Given the description of an element on the screen output the (x, y) to click on. 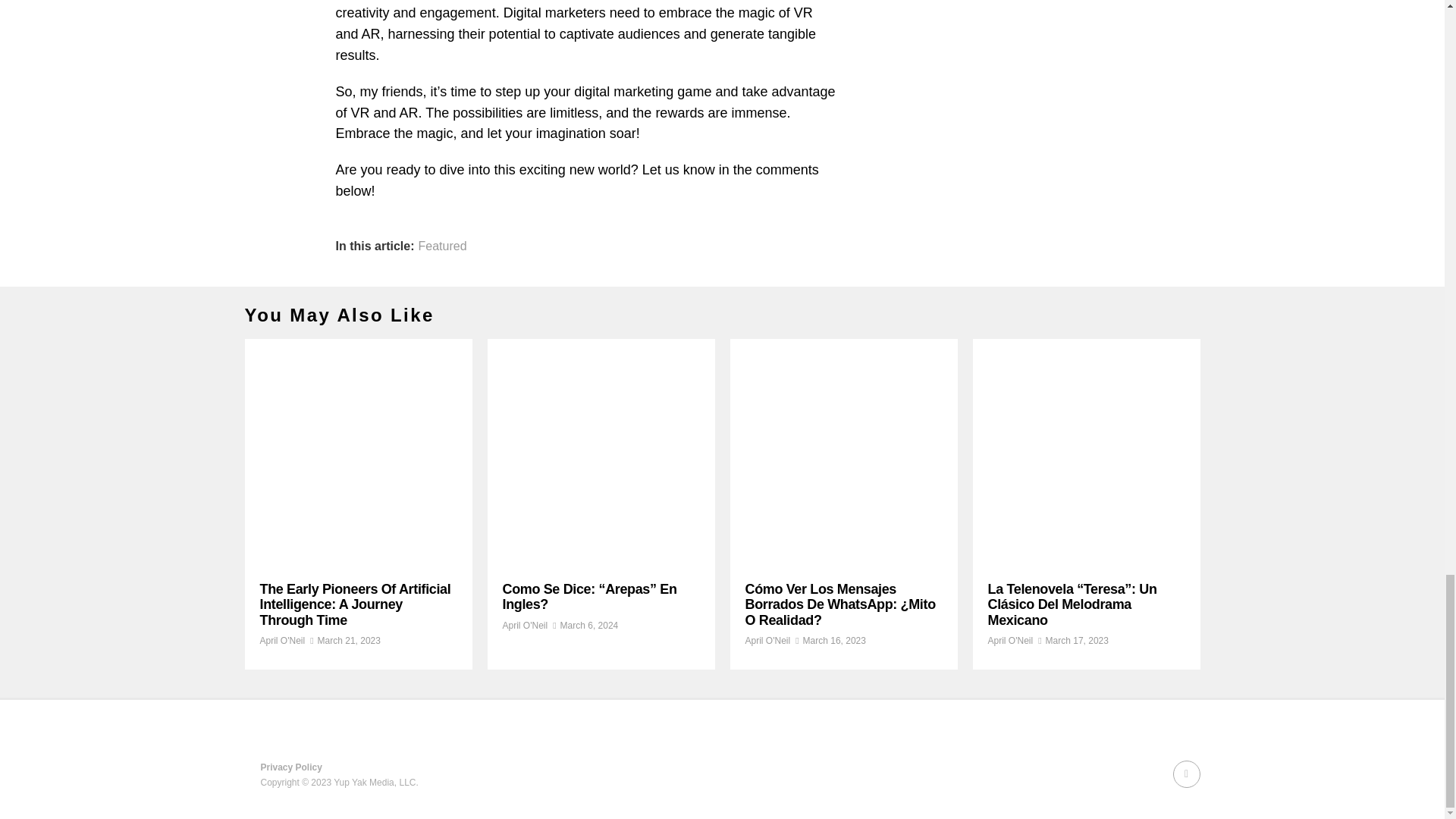
Posts by April O'Neil (524, 624)
Posts by April O'Neil (767, 640)
Posts by April O'Neil (1009, 640)
Posts by April O'Neil (281, 640)
